Given the description of an element on the screen output the (x, y) to click on. 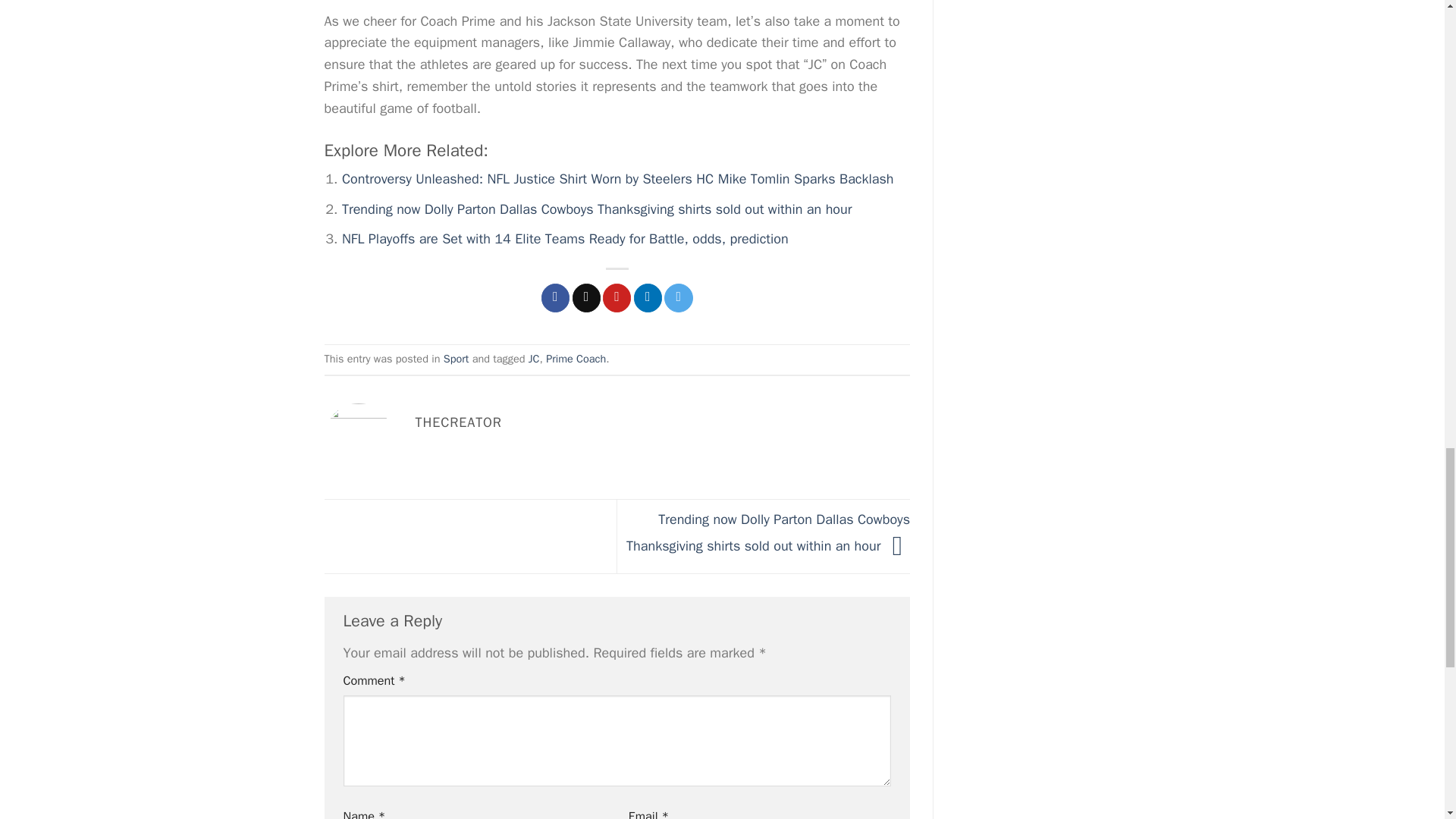
Share on Telegram (678, 297)
Share on LinkedIn (647, 297)
Share on X (585, 297)
Share on Facebook (555, 297)
